Given the description of an element on the screen output the (x, y) to click on. 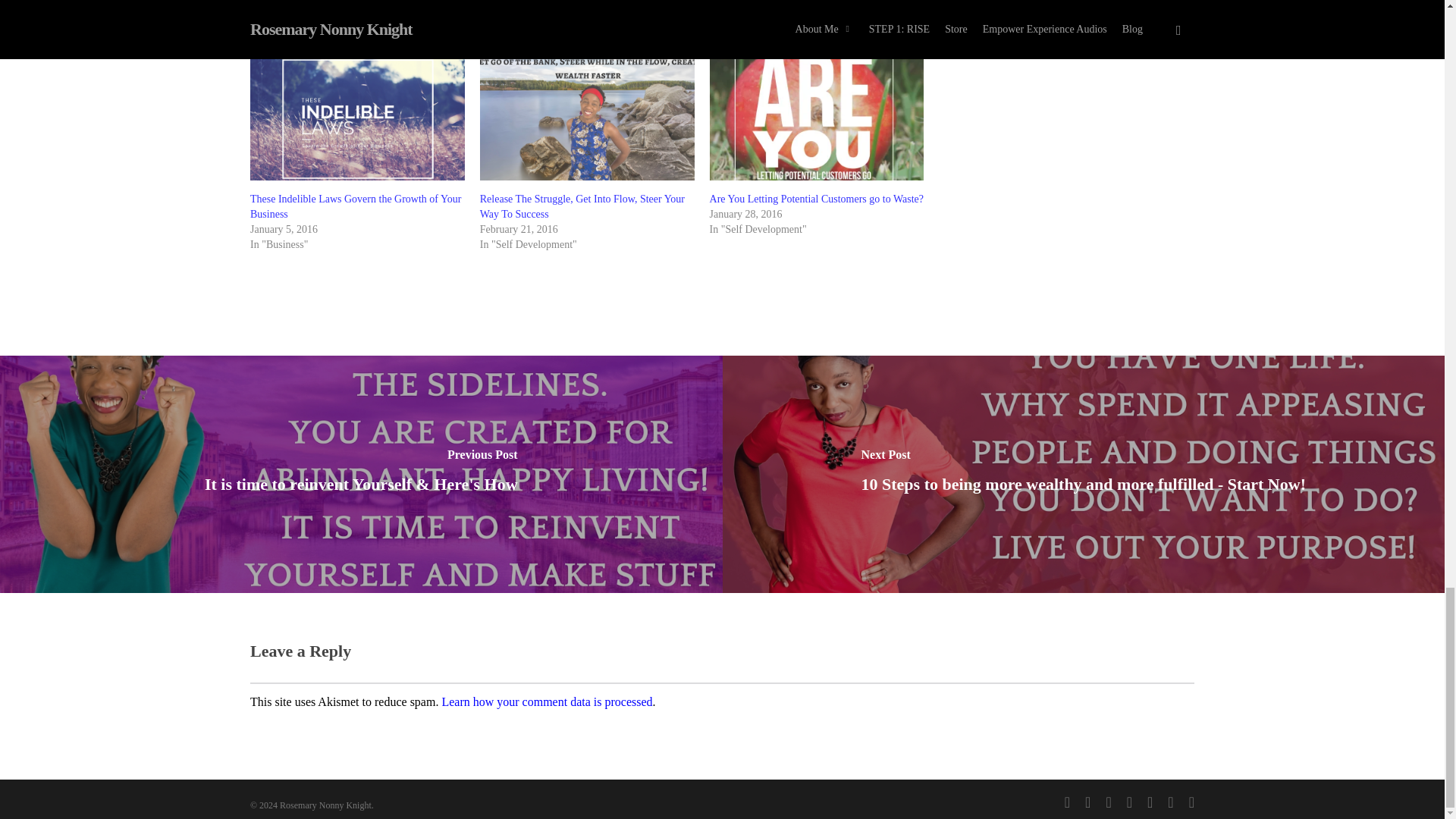
These Indelible Laws Govern the Growth of Your Business (355, 206)
Are You Letting Potential Customers go to Waste? (817, 118)
Are You Letting Potential Customers go to Waste? (816, 198)
Are You Letting Potential Customers go to Waste? (816, 198)
These Indelible Laws Govern the Growth of Your Business (357, 118)
These Indelible Laws Govern the Growth of Your Business (355, 206)
